Given the description of an element on the screen output the (x, y) to click on. 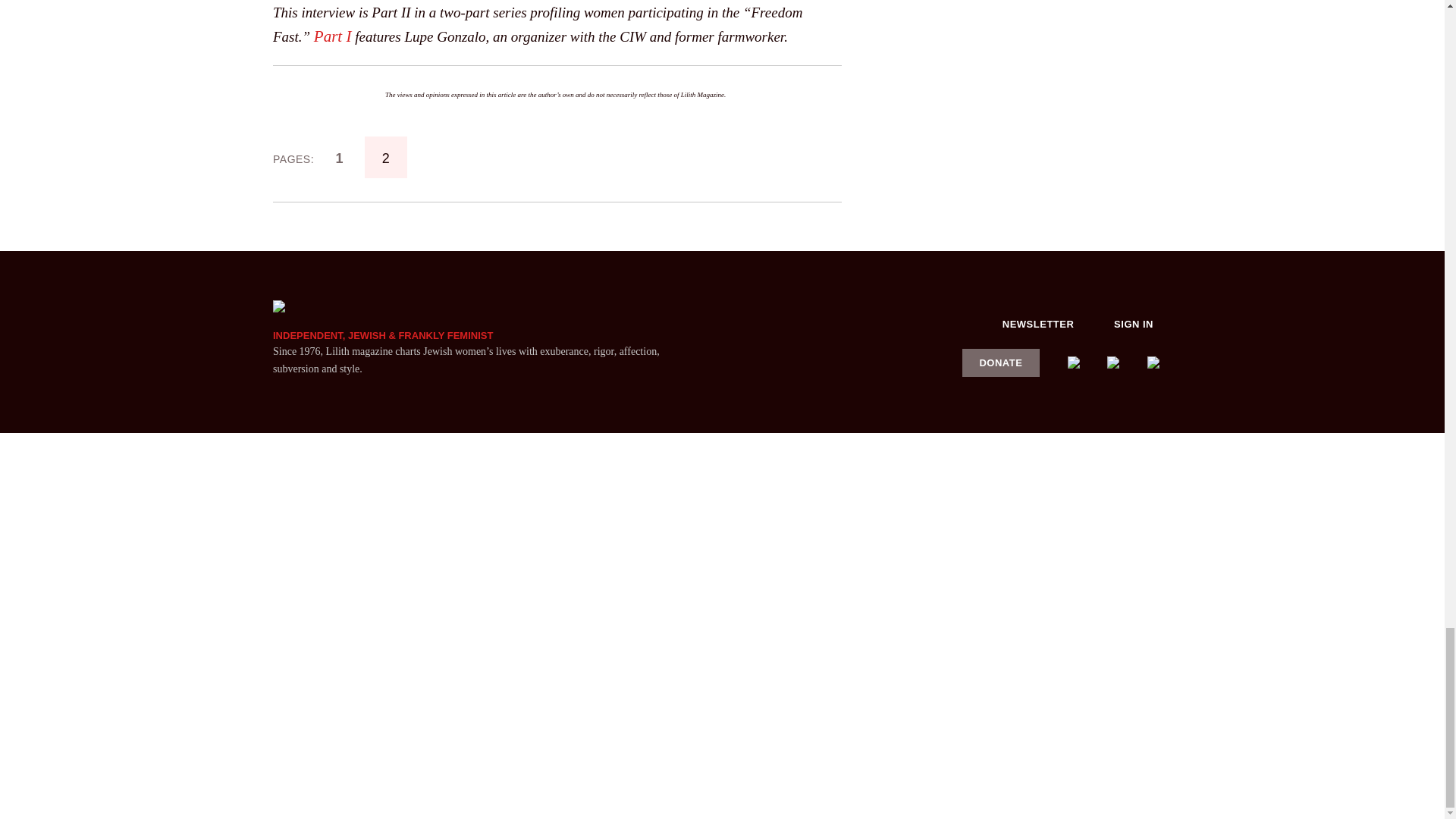
SIGN IN (1134, 323)
DONATE (1000, 362)
NEWSLETTER (1038, 323)
1 (338, 157)
Part I (333, 36)
